Given the description of an element on the screen output the (x, y) to click on. 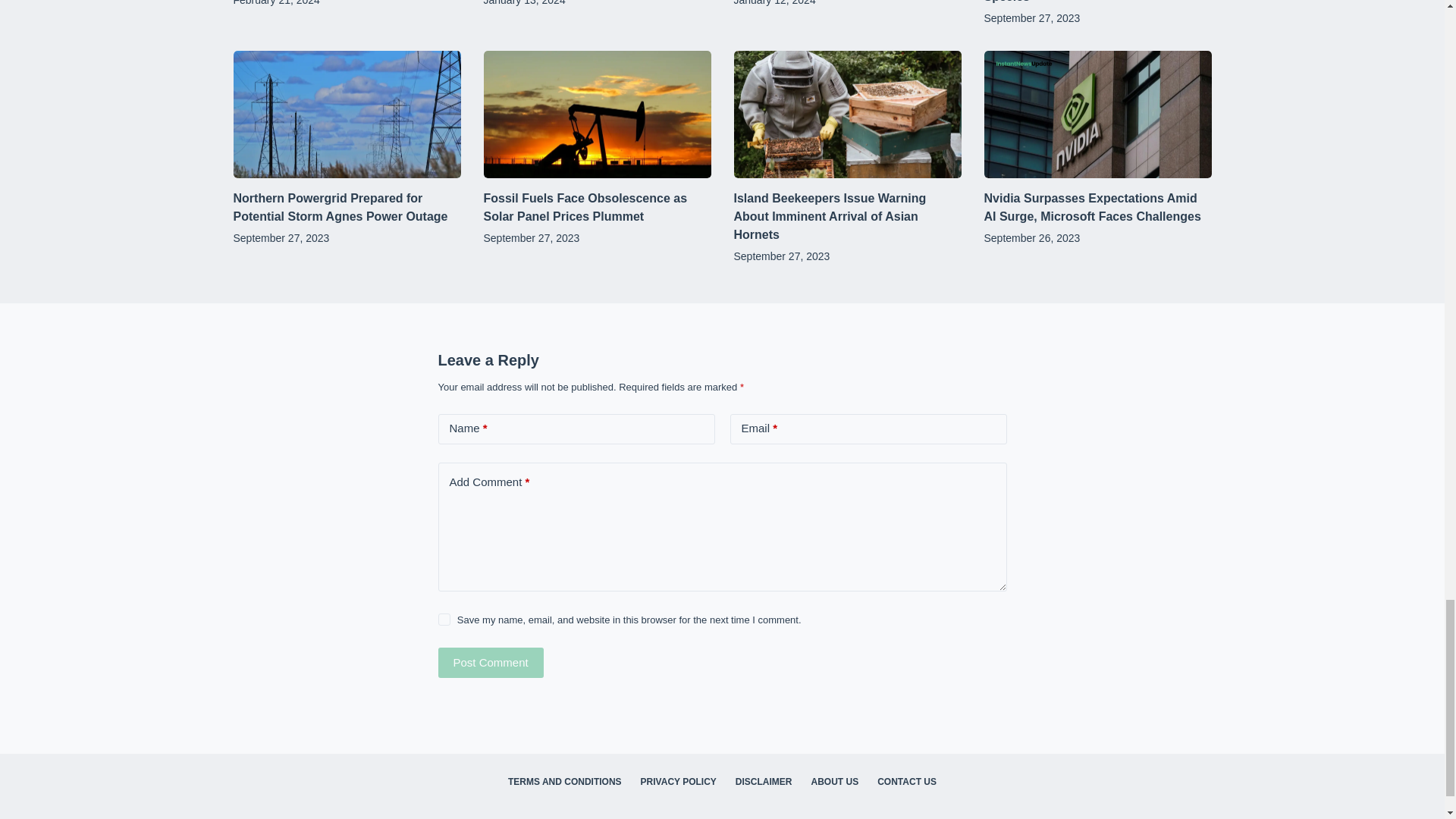
yes (443, 619)
